Given the description of an element on the screen output the (x, y) to click on. 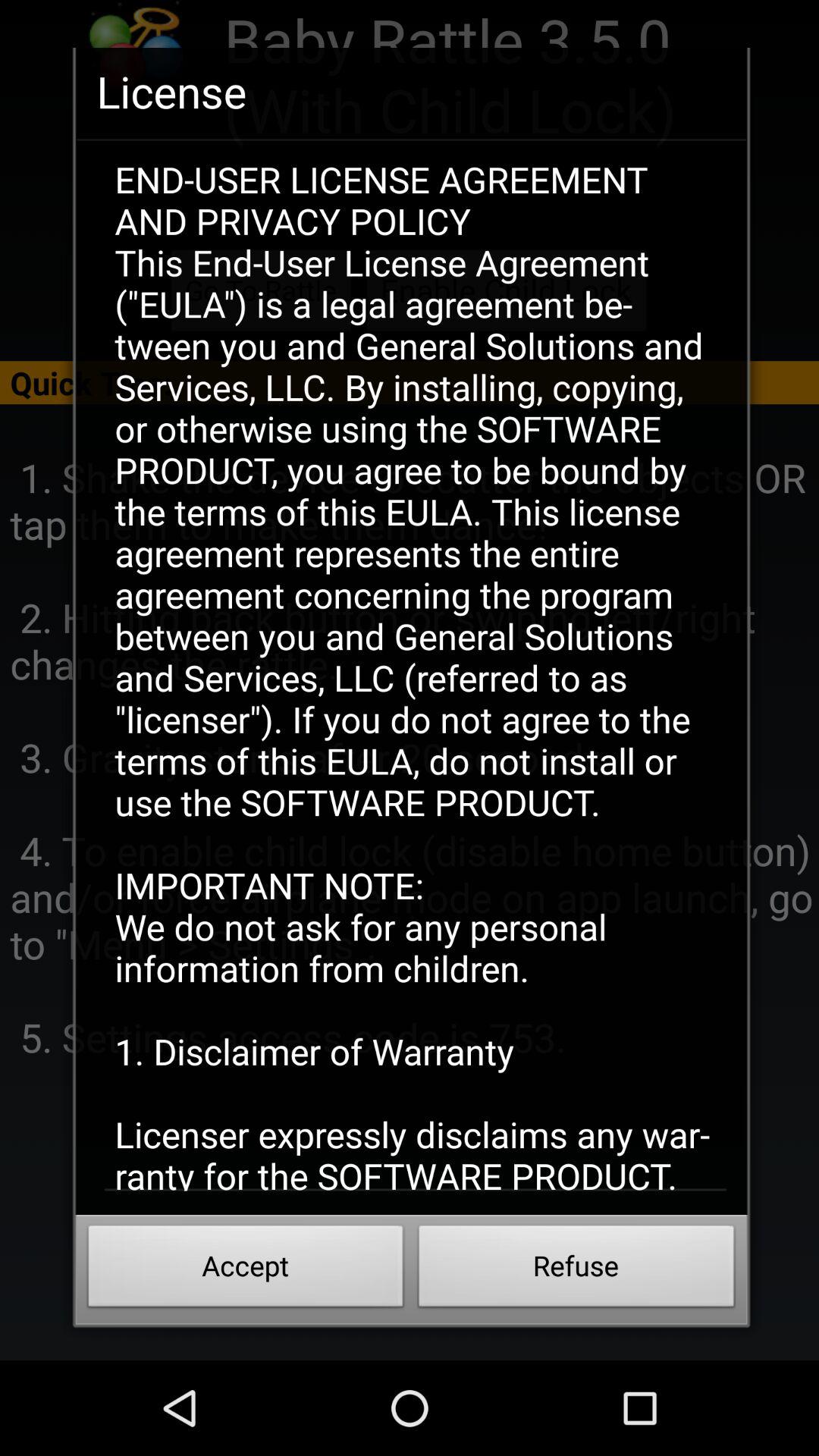
open the refuse item (576, 1270)
